Given the description of an element on the screen output the (x, y) to click on. 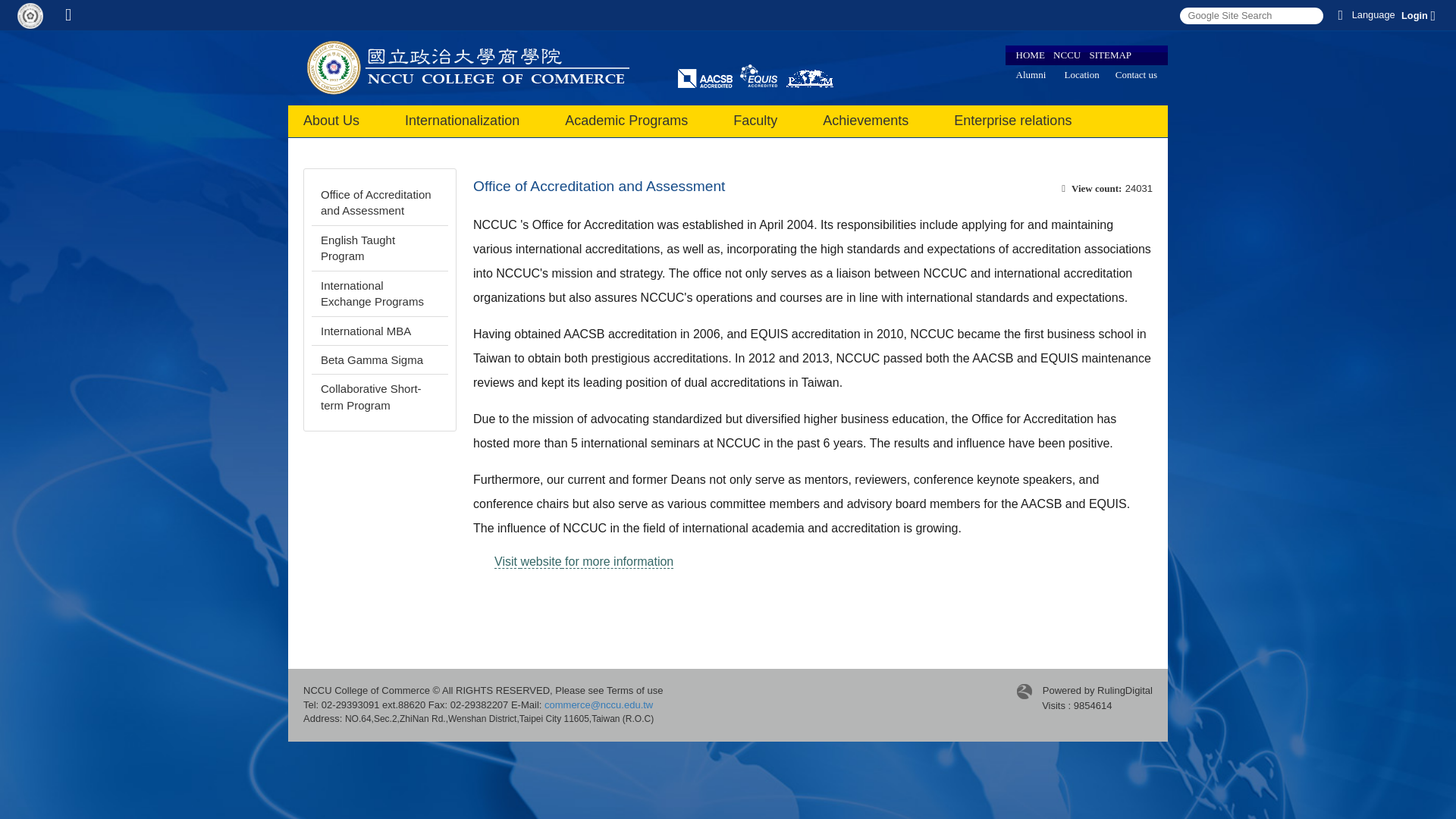
Open NCCU in current tab (1066, 54)
Open Homepage in current tab (68, 15)
About Us (331, 121)
Language (1364, 15)
SITEMAP (1110, 54)
Open HOME in current tab (1030, 54)
Location (1081, 74)
HOME (1030, 54)
Open SITEMAP in current tab (1110, 54)
search (1250, 15)
NCCU (1066, 54)
Alumni (1031, 74)
please login to manage web,click to open login window (30, 15)
Contact us (1136, 74)
